Given the description of an element on the screen output the (x, y) to click on. 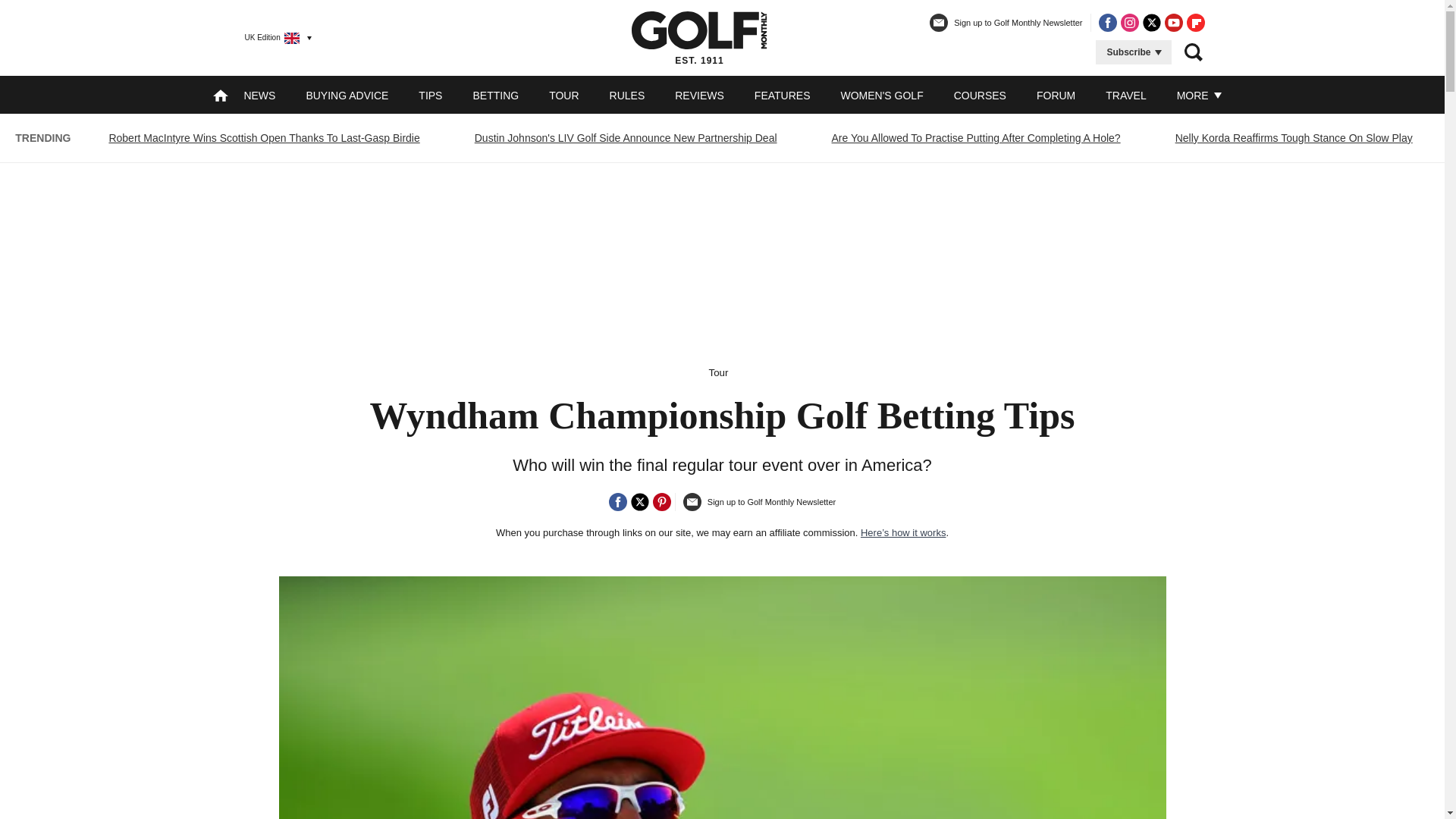
Tour (719, 372)
RULES (627, 95)
BETTING (494, 95)
FORUM (1055, 95)
REVIEWS (699, 95)
COURSES (979, 95)
Dustin Johnson's LIV Golf Side Announce New Partnership Deal (625, 137)
FEATURES (782, 95)
UK Edition (271, 37)
EST. 1911 (699, 37)
TOUR (563, 95)
Sign up to Golf Monthly Newsletter (1005, 28)
BUYING ADVICE (346, 95)
Nelly Korda Reaffirms Tough Stance On Slow Play (1294, 137)
